Given the description of an element on the screen output the (x, y) to click on. 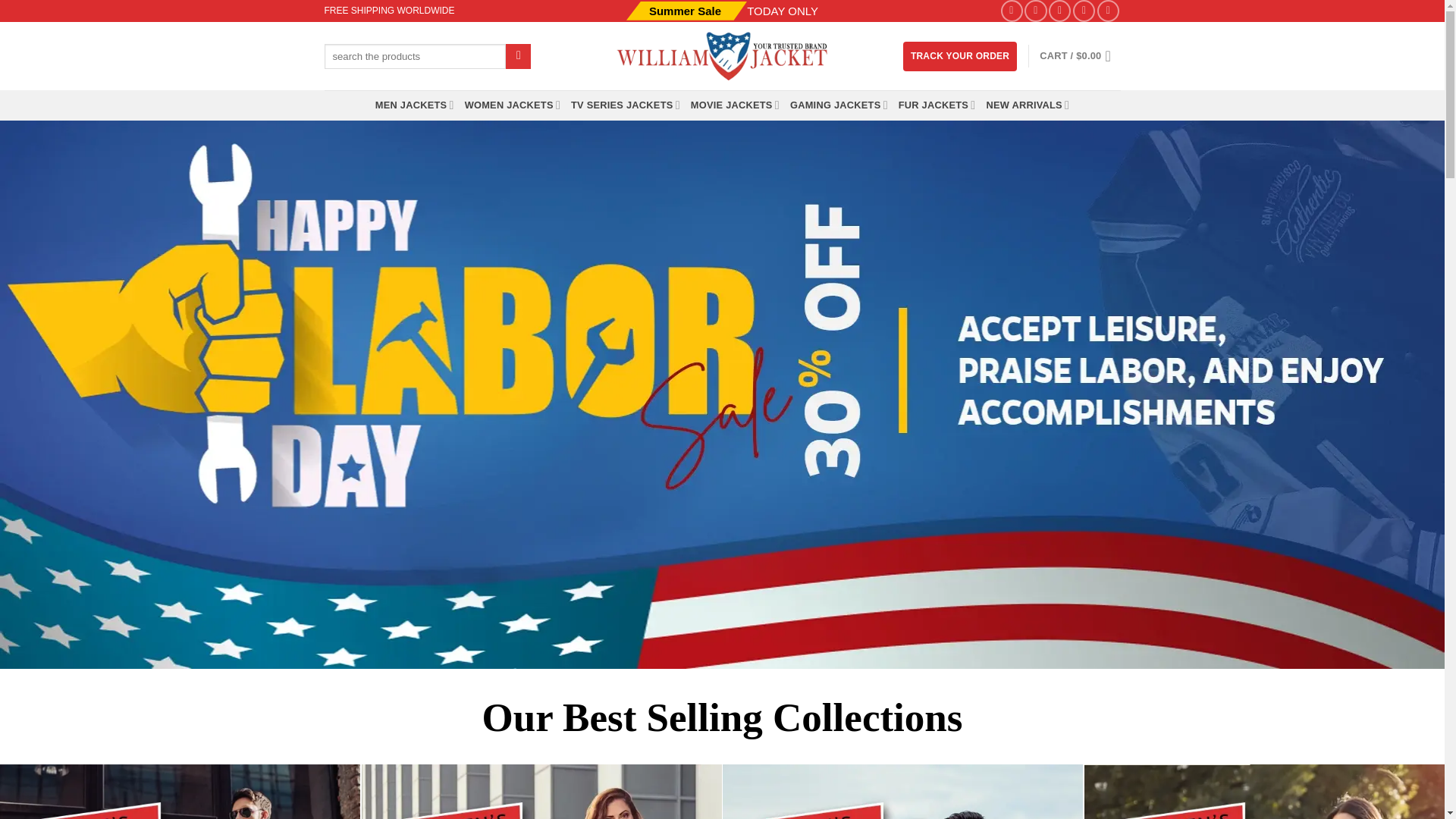
Search (518, 56)
Follow on Pinterest (1083, 11)
Follow on YouTube (1108, 11)
Cart (1079, 55)
TRACK YOUR ORDER (959, 56)
Follow on Facebook (1012, 11)
Follow on Instagram (1035, 11)
MEN JACKETS (414, 104)
William Jacket - William Jacket your trusted brand (721, 56)
Follow on Twitter (1059, 11)
